Given the description of an element on the screen output the (x, y) to click on. 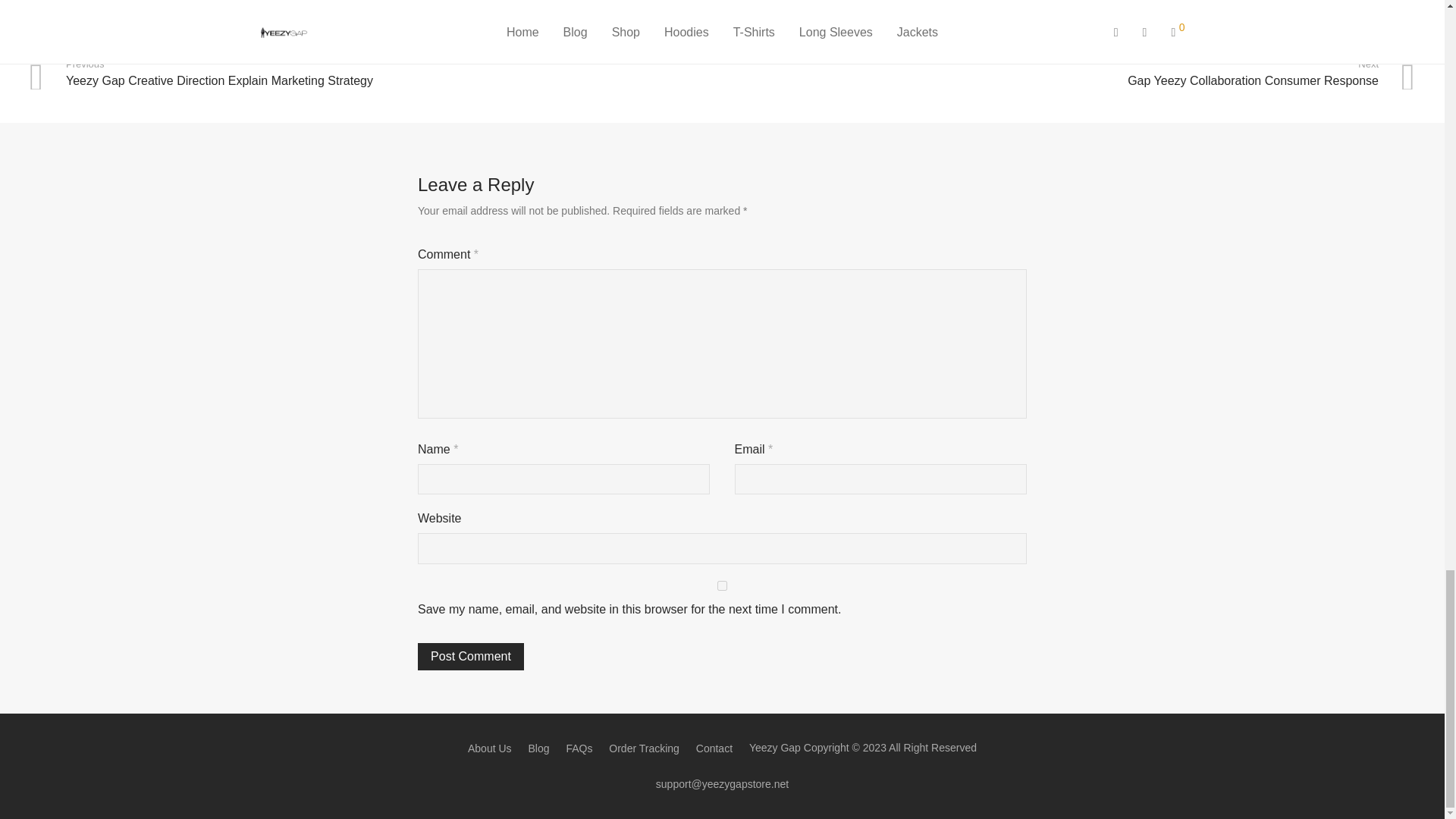
Post Comment (470, 656)
Post Comment (470, 656)
FAQs (1070, 73)
About Us (579, 748)
Order Tracking (489, 748)
Blog (643, 748)
yes (537, 748)
Contact (721, 585)
